Given the description of an element on the screen output the (x, y) to click on. 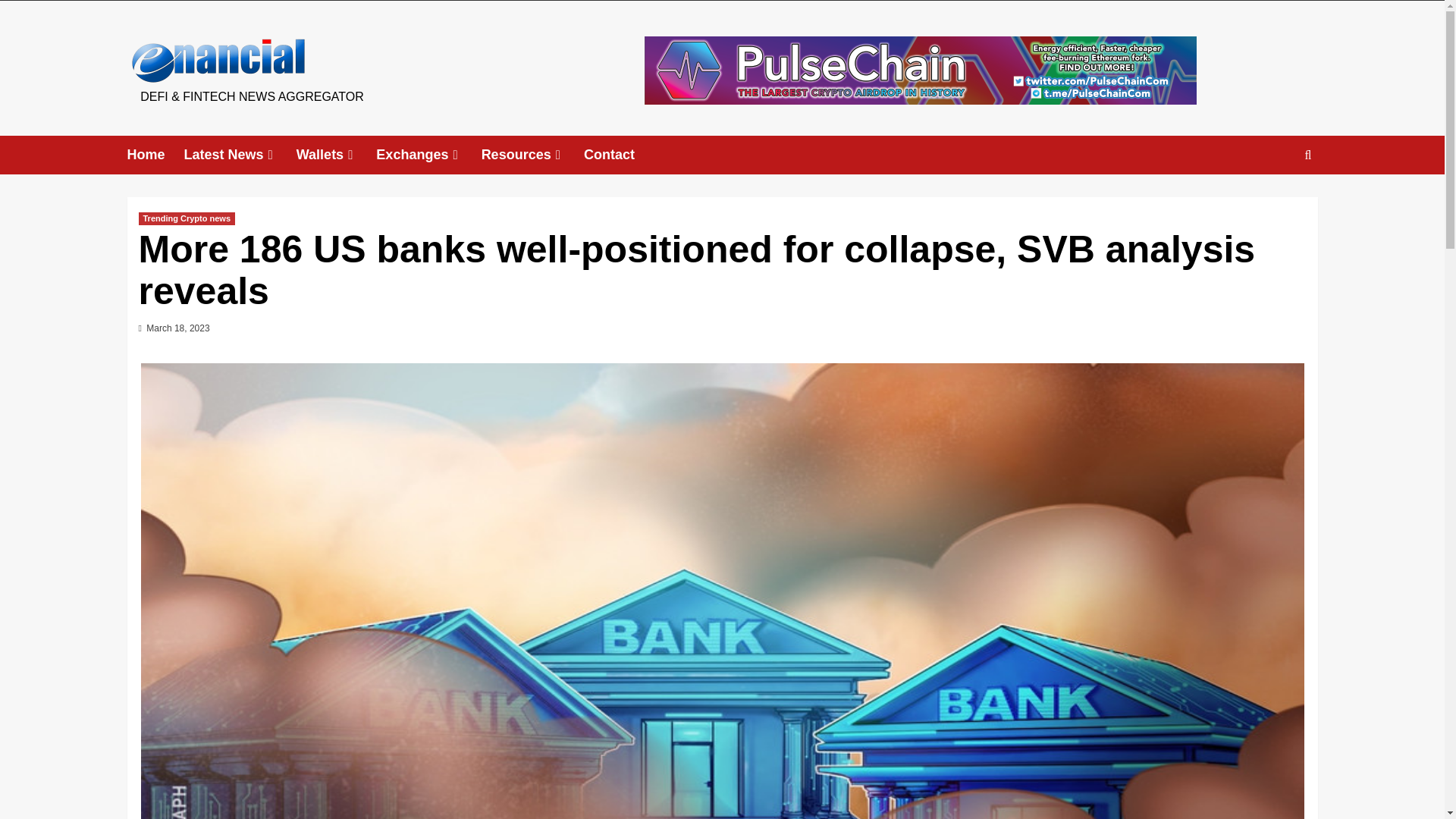
Resources (532, 154)
Exchanges (427, 154)
March 18, 2023 (178, 327)
Search (1272, 202)
Latest News (240, 154)
Wallets (337, 154)
Trending Crypto news (186, 218)
Contact (618, 154)
Home (156, 154)
